Given the description of an element on the screen output the (x, y) to click on. 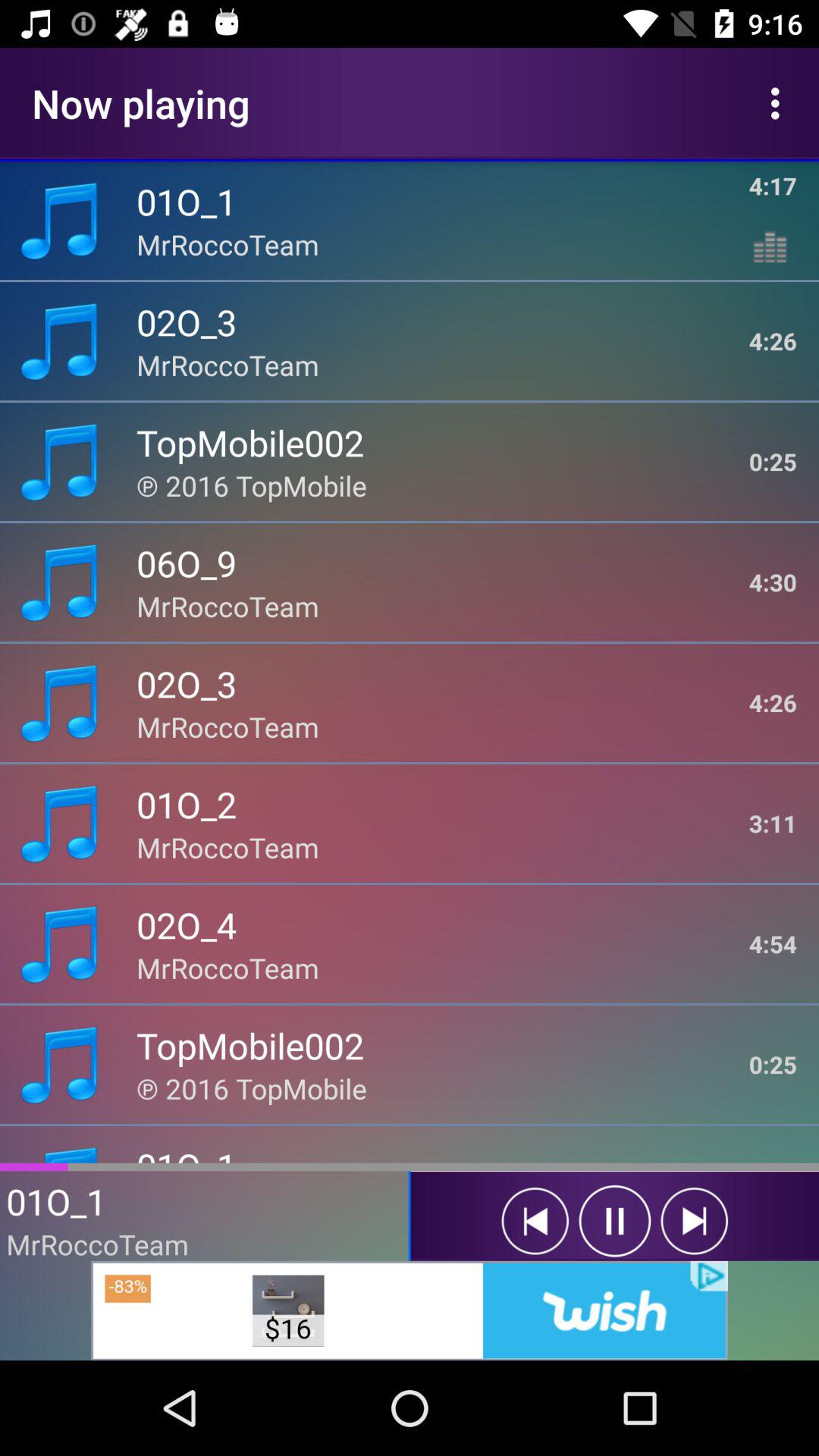
adio playing page (535, 1220)
